Given the description of an element on the screen output the (x, y) to click on. 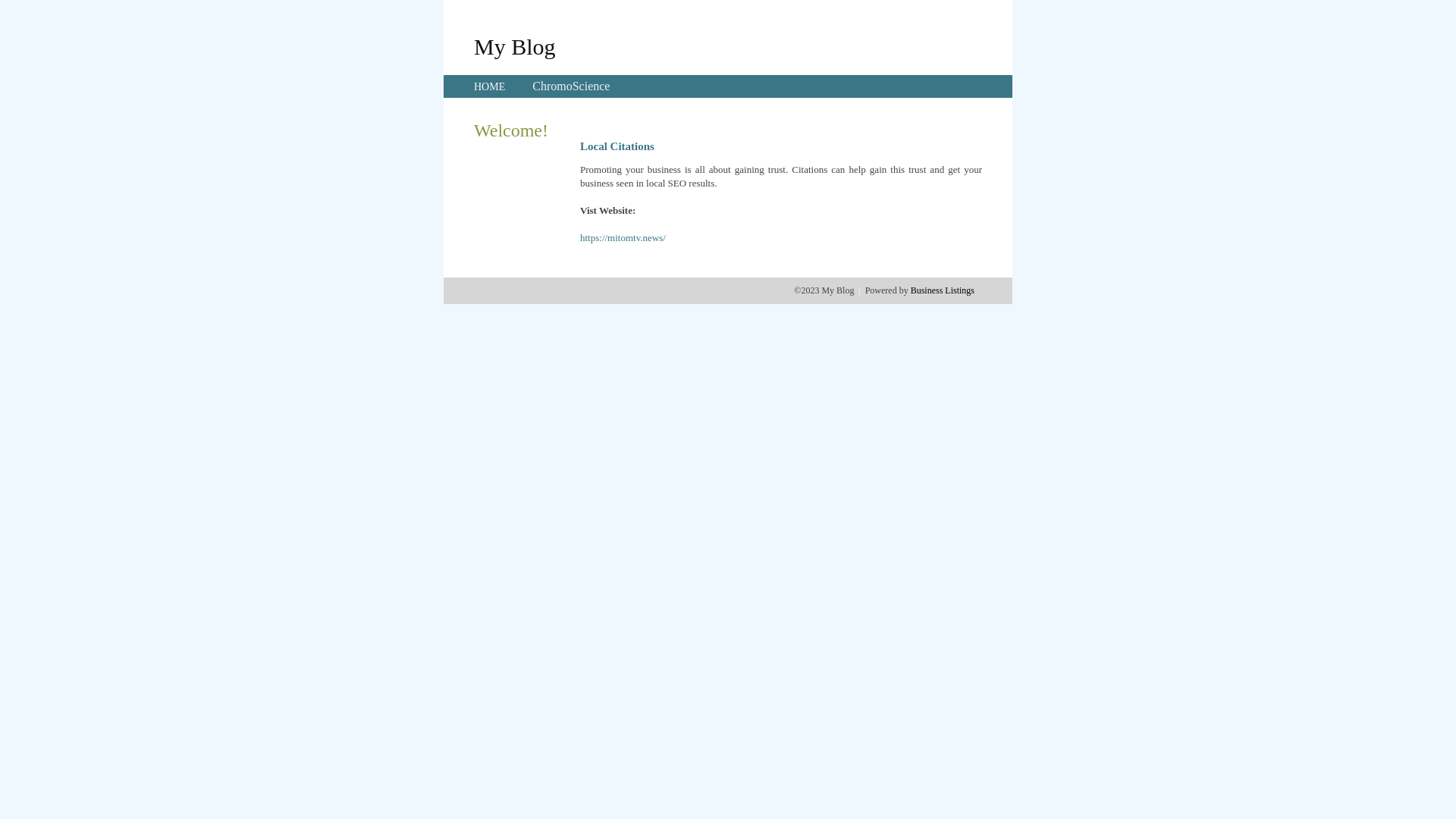
ChromoScience Element type: text (570, 85)
https://mitomtv.news/ Element type: text (622, 237)
Business Listings Element type: text (942, 290)
HOME Element type: text (489, 86)
My Blog Element type: text (514, 46)
